Given the description of an element on the screen output the (x, y) to click on. 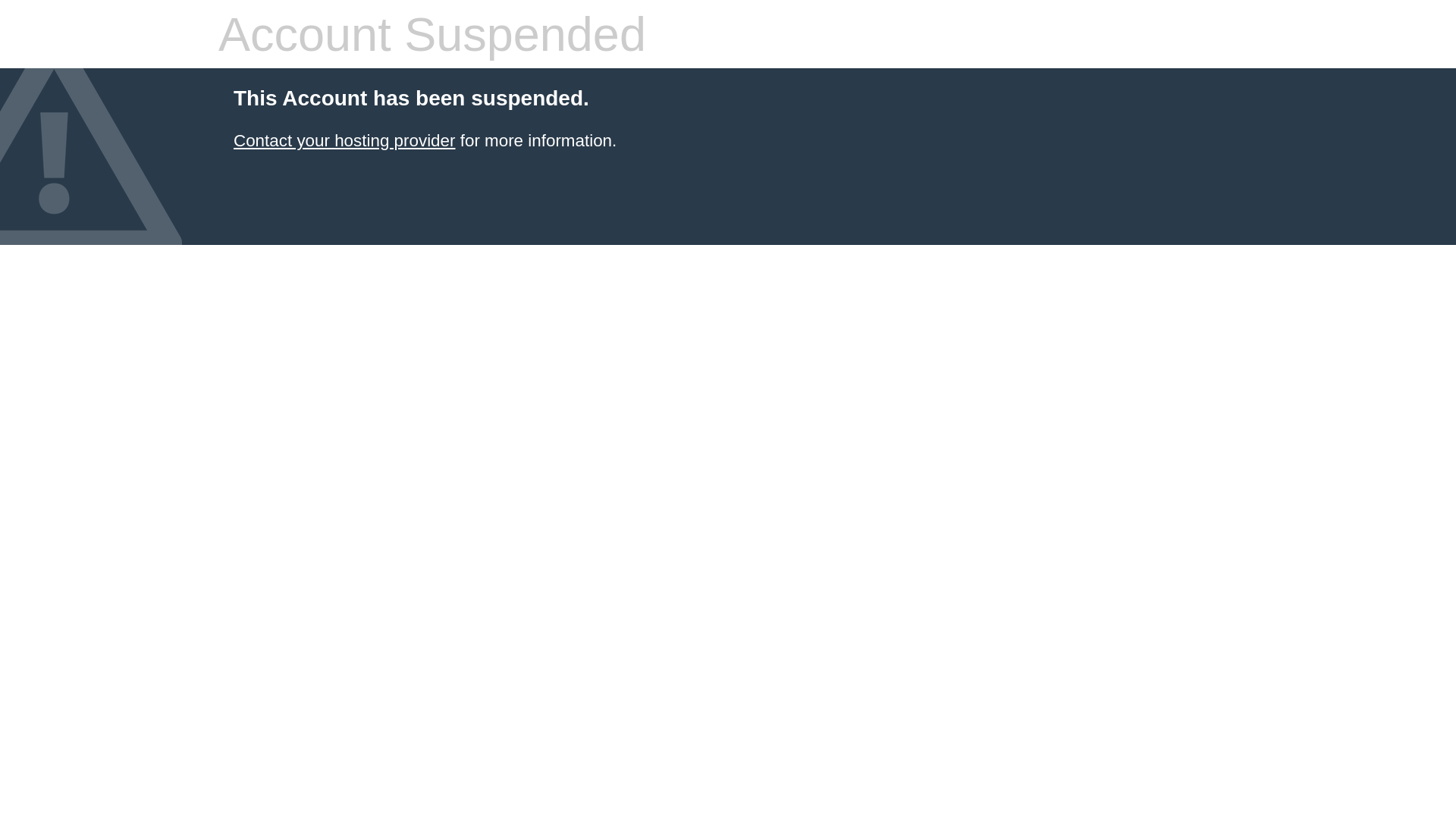
Contact your hosting provider Element type: text (344, 140)
